Given the description of an element on the screen output the (x, y) to click on. 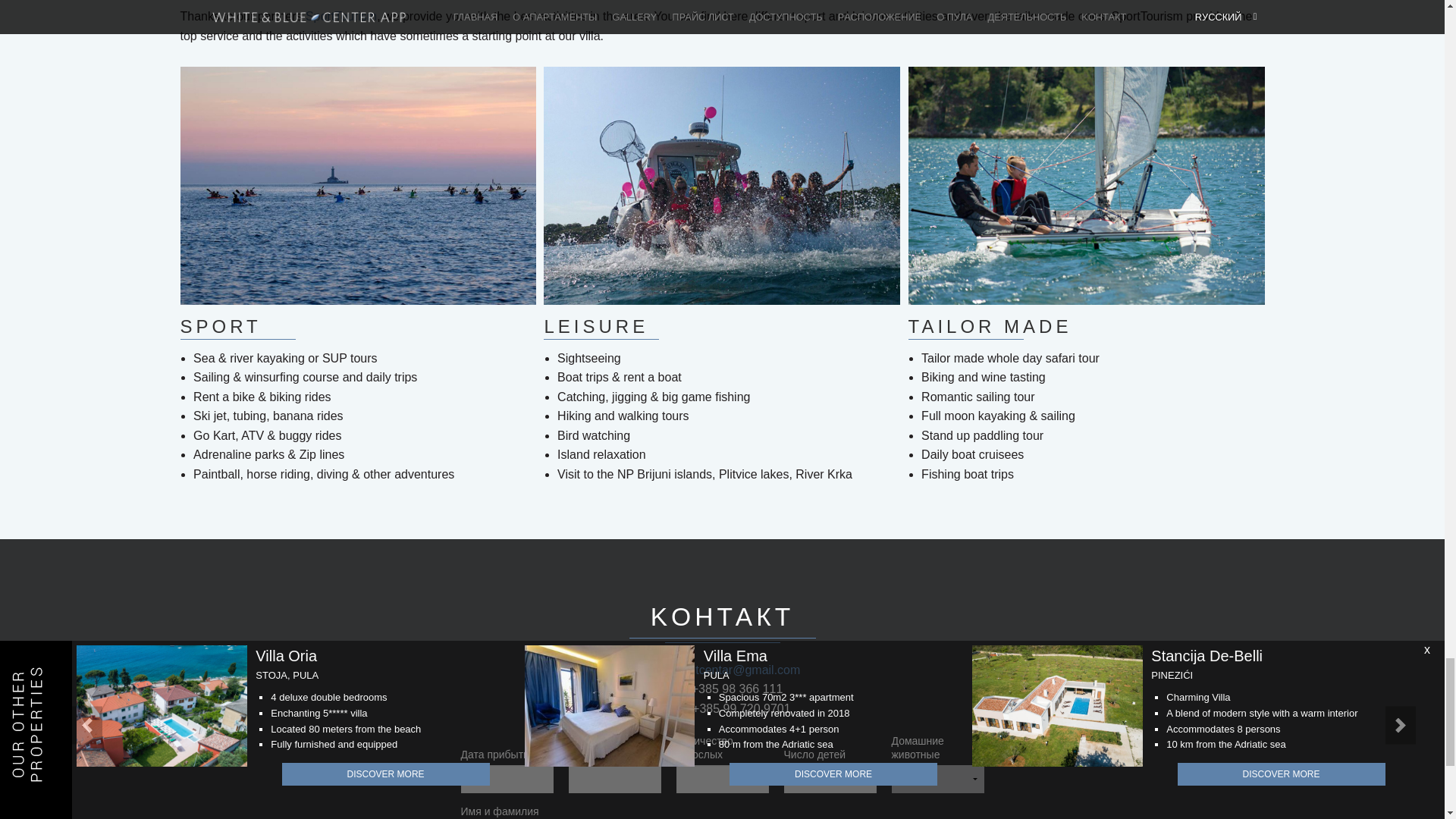
SportTurism (341, 15)
